Given the description of an element on the screen output the (x, y) to click on. 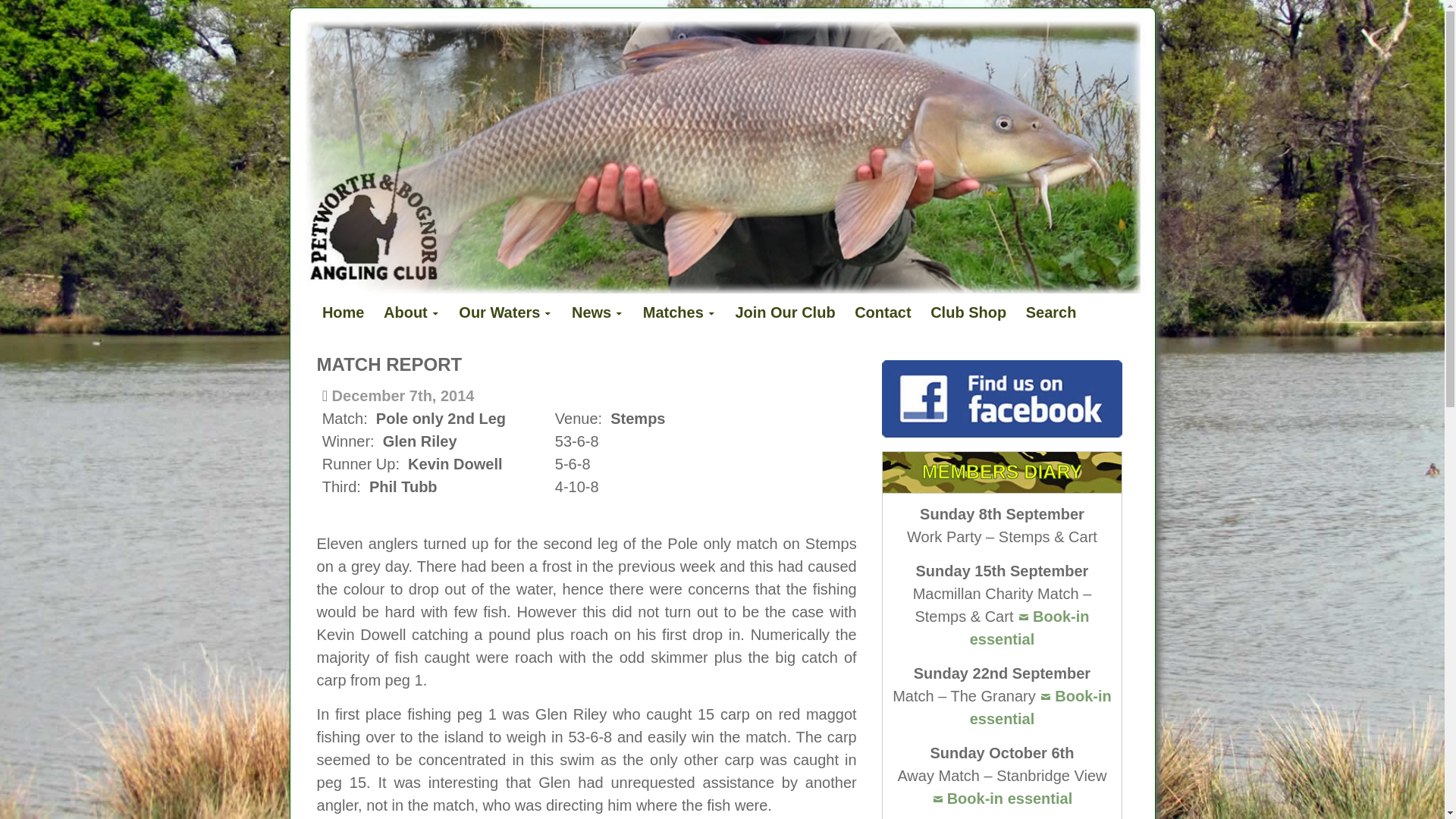
About (410, 312)
Matches (678, 312)
News (597, 312)
Home (343, 312)
Our Waters (505, 312)
